Given the description of an element on the screen output the (x, y) to click on. 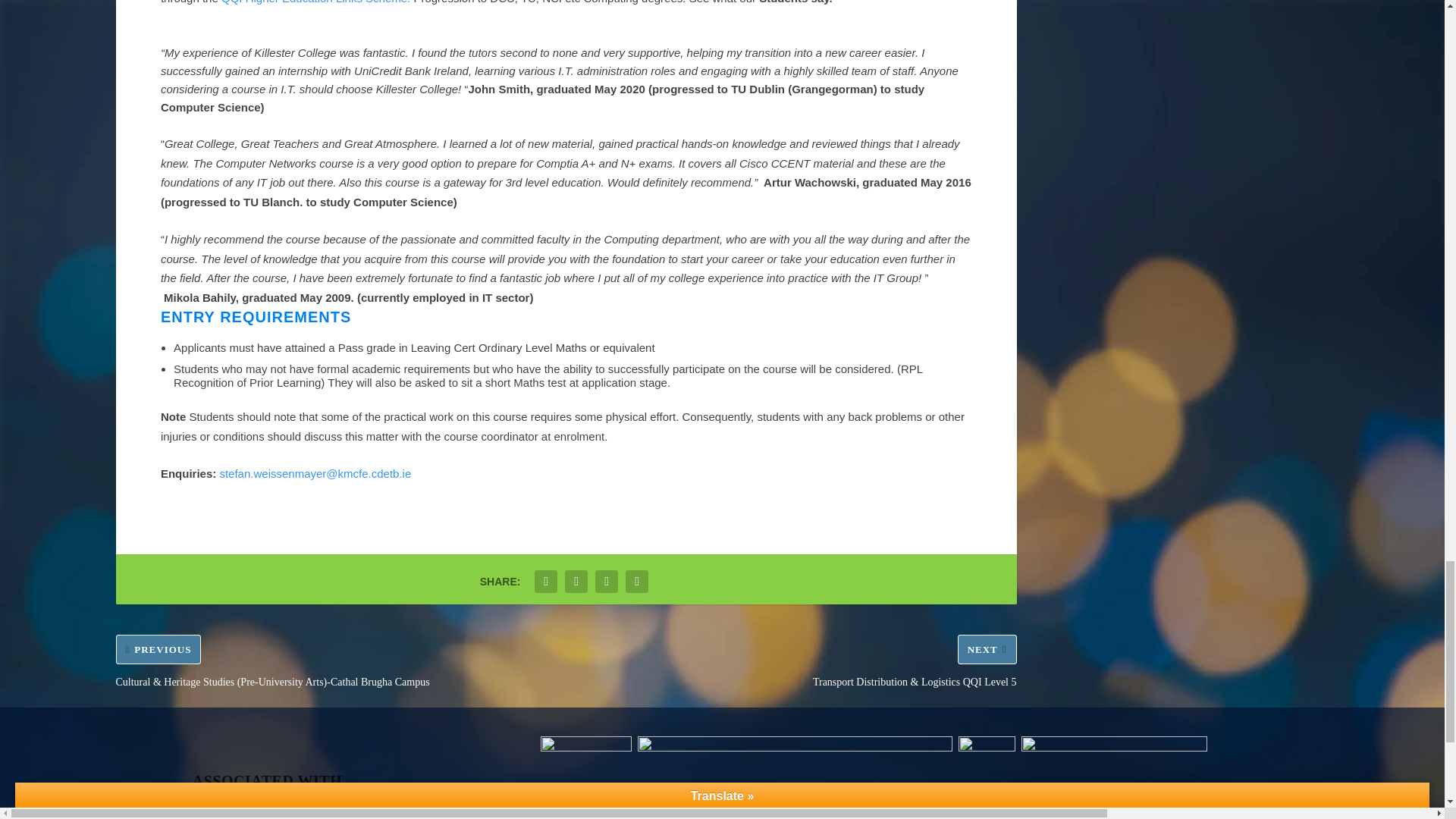
QQI Higher Education Links Scheme. (315, 2)
Higher Education Links Scheme (315, 2)
